Given the description of an element on the screen output the (x, y) to click on. 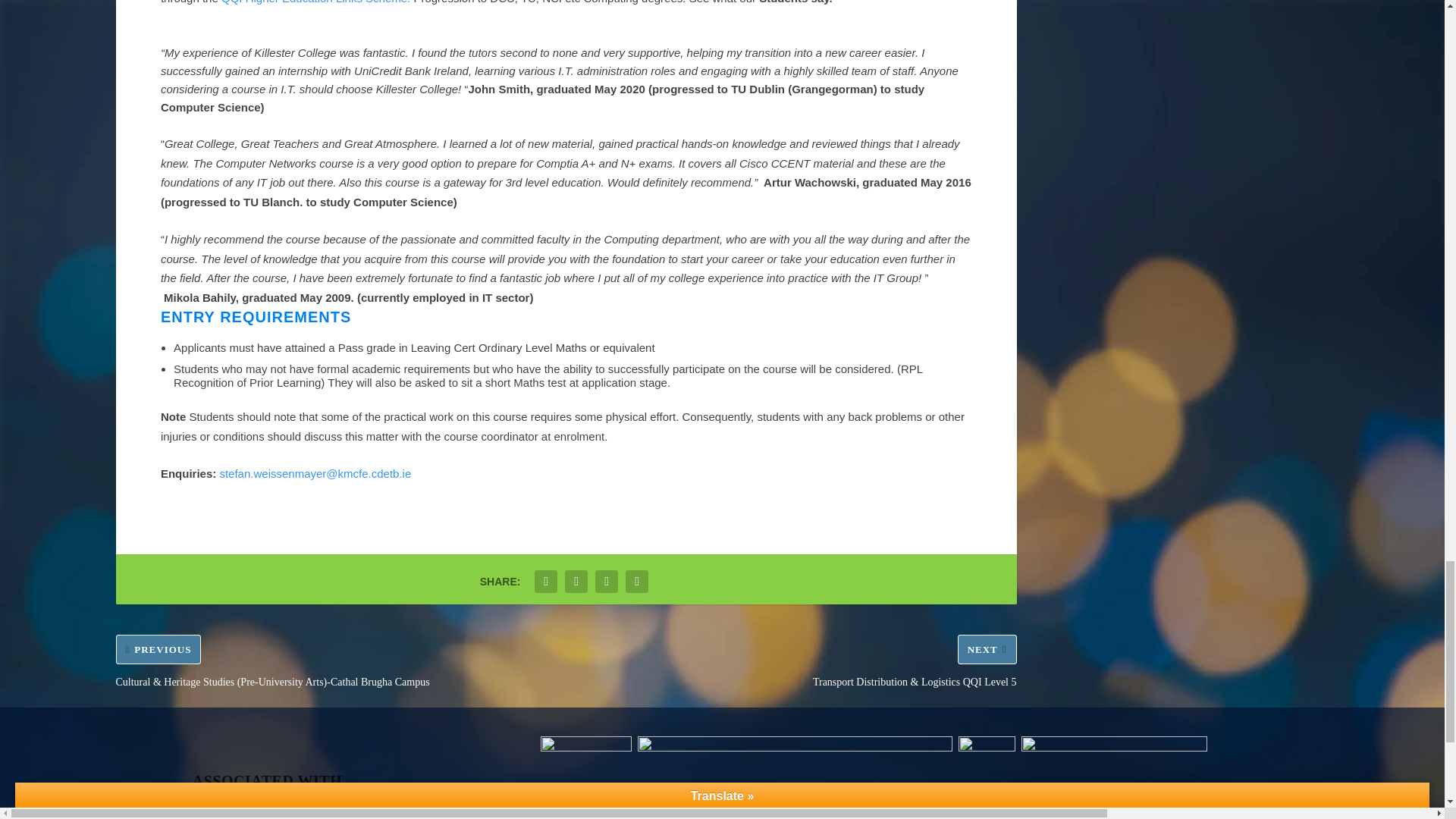
QQI Higher Education Links Scheme. (315, 2)
Higher Education Links Scheme (315, 2)
